Given the description of an element on the screen output the (x, y) to click on. 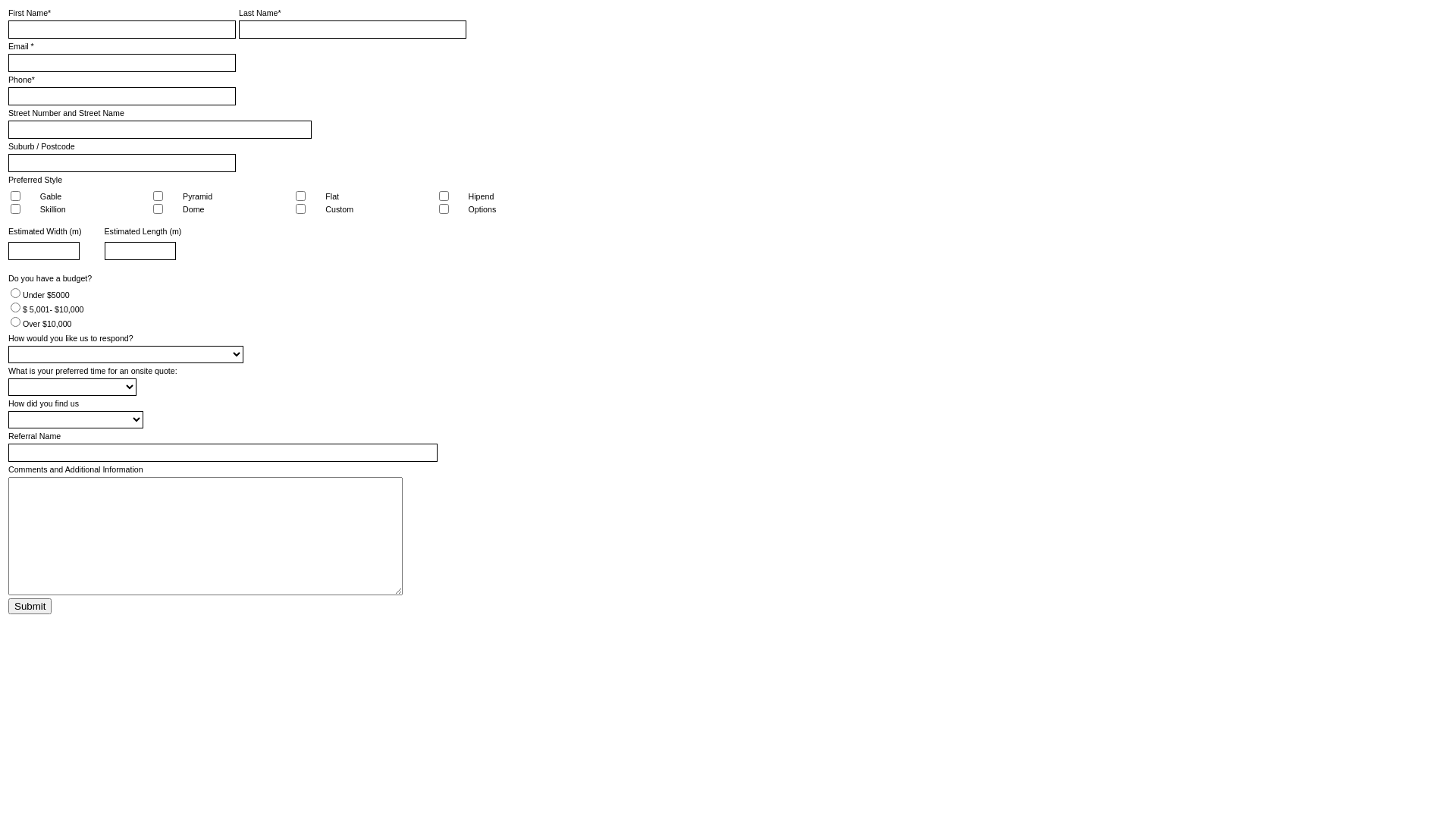
Submit Element type: text (29, 606)
